Given the description of an element on the screen output the (x, y) to click on. 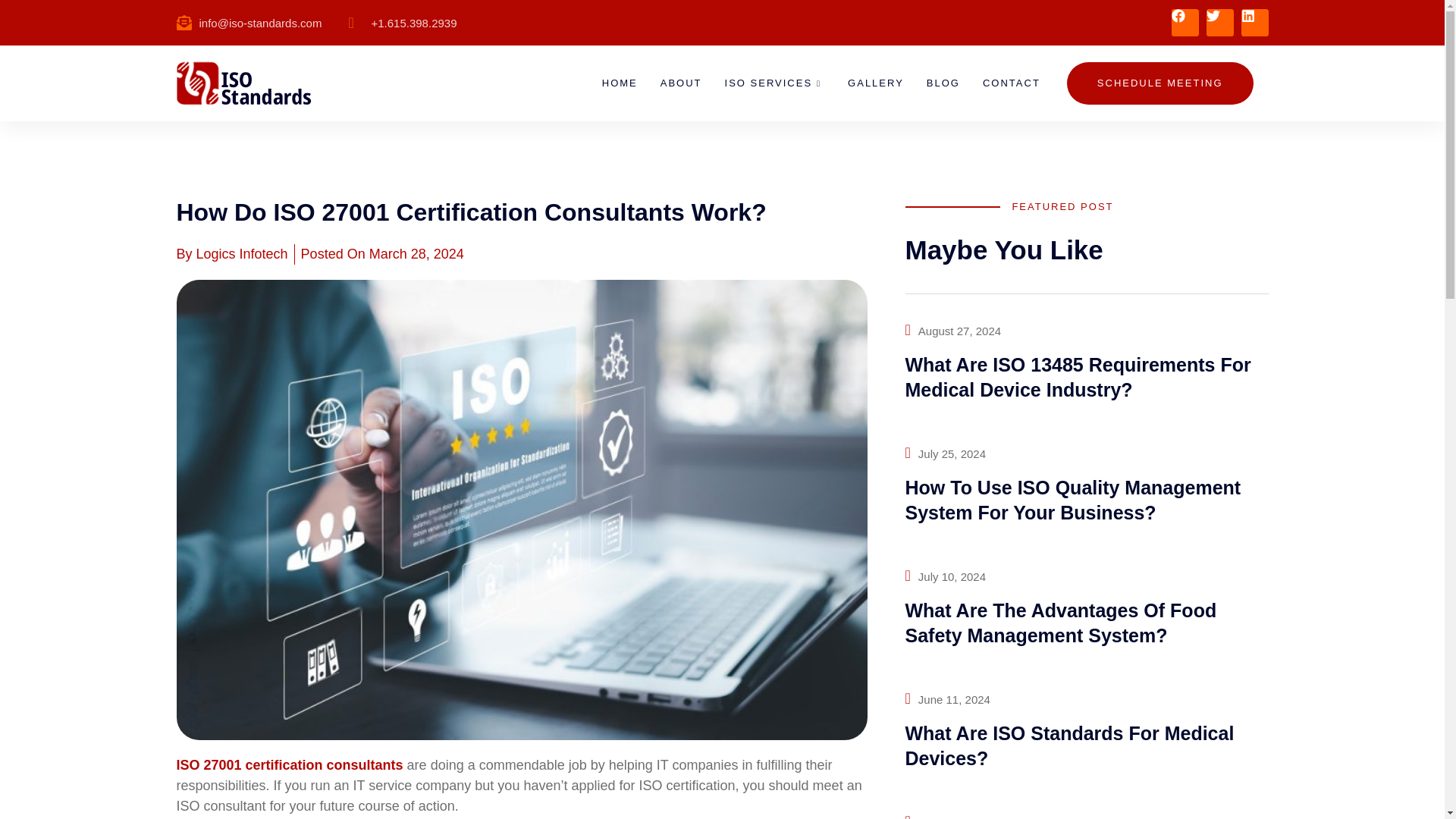
SCHEDULE MEETING (1160, 83)
What Are ISO Standards For Medical Devices? (1069, 745)
What Are ISO 13485 Requirements For Medical Device Industry? (1077, 376)
GALLERY (875, 83)
CONTACT (1011, 83)
By Logics Infotech (231, 254)
How To Use ISO Quality Management System For Your Business? (1073, 499)
ISO SERVICES (775, 83)
What Are The Advantages Of Food Safety Management System? (1061, 622)
